Given the description of an element on the screen output the (x, y) to click on. 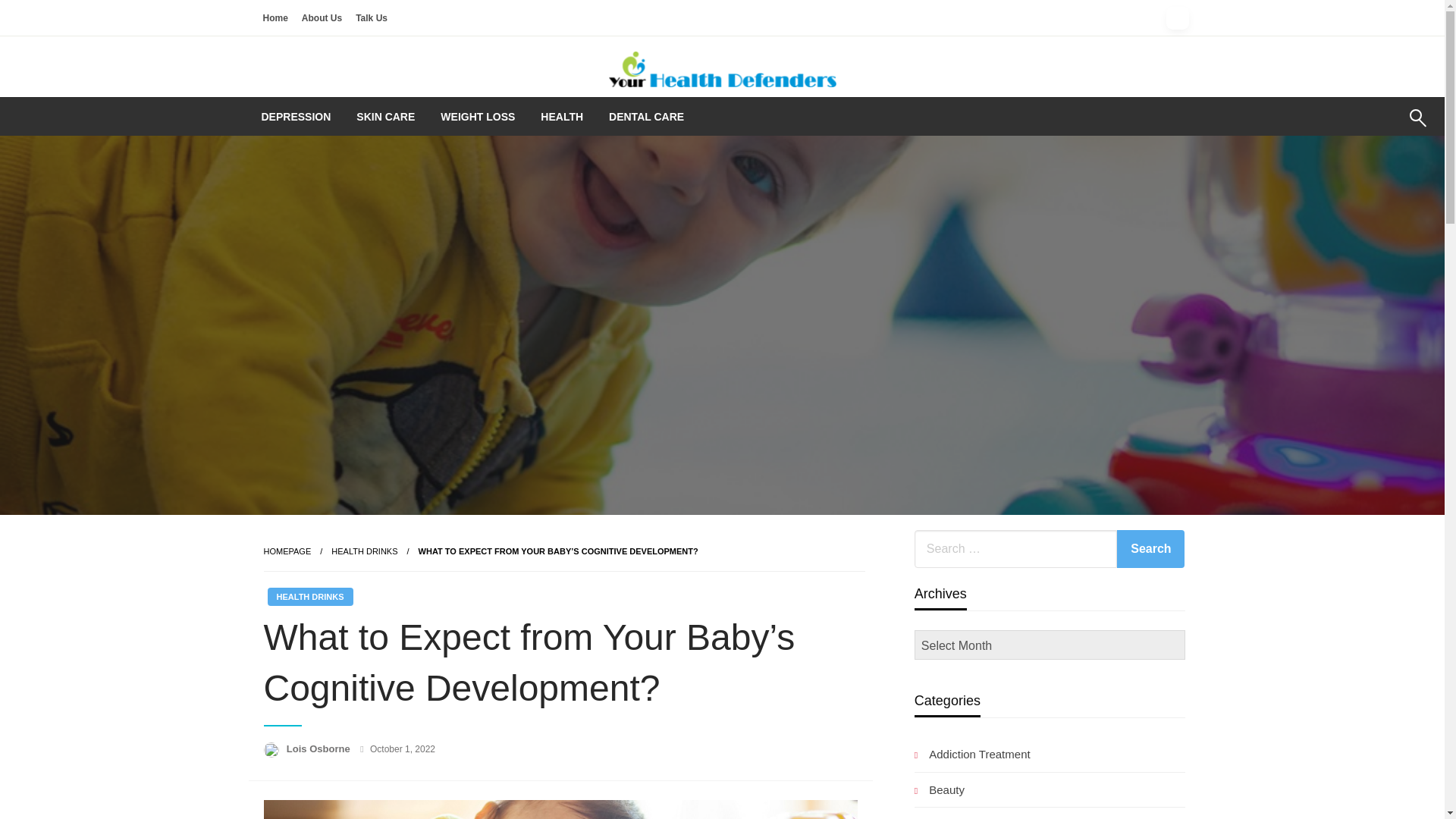
Health Drinks (364, 551)
Talk Us (371, 17)
Search (1150, 548)
HEALTH DRINKS (364, 551)
Lois Osborne (319, 748)
Lois Osborne (319, 748)
SKIN CARE (385, 116)
About Us (322, 17)
Search (1381, 126)
HOMEPAGE (287, 551)
Search (1150, 548)
DEPRESSION (295, 116)
Your Health Defenders (761, 116)
Beauty (938, 789)
HEALTH DRINKS (309, 597)
